Given the description of an element on the screen output the (x, y) to click on. 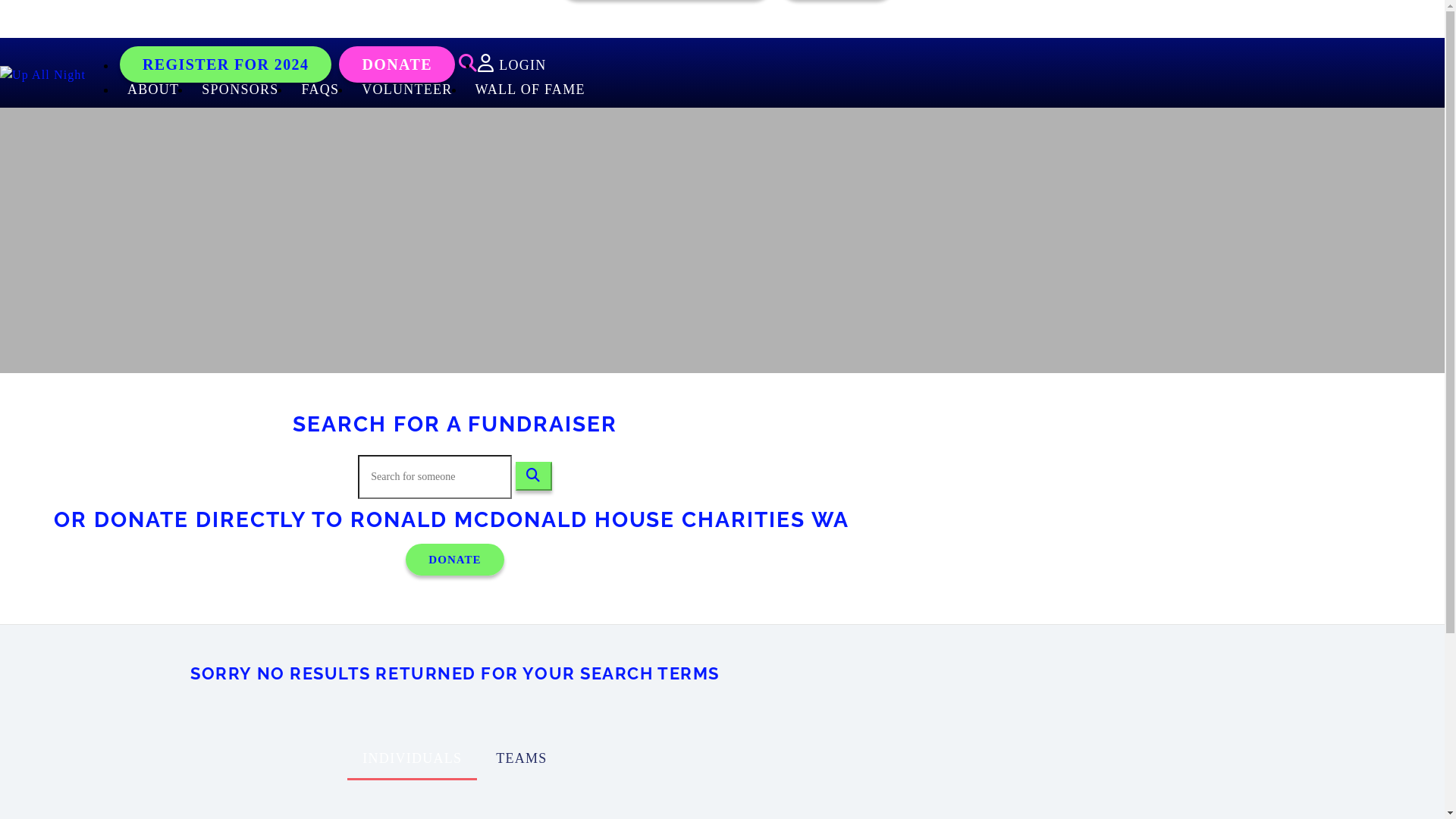
LOGIN Element type: text (511, 64)
REGISTER FOR 2024 Element type: text (225, 64)
INDIVIDUALS Element type: text (411, 759)
SPONSORS Element type: text (239, 89)
WALL OF FAME Element type: text (530, 89)
DONATE Element type: text (454, 559)
FAQS Element type: text (319, 89)
VOLUNTEER Element type: text (406, 89)
DONATE Element type: text (396, 64)
ABOUT Element type: text (153, 89)
TEAMS Element type: text (520, 758)
